Given the description of an element on the screen output the (x, y) to click on. 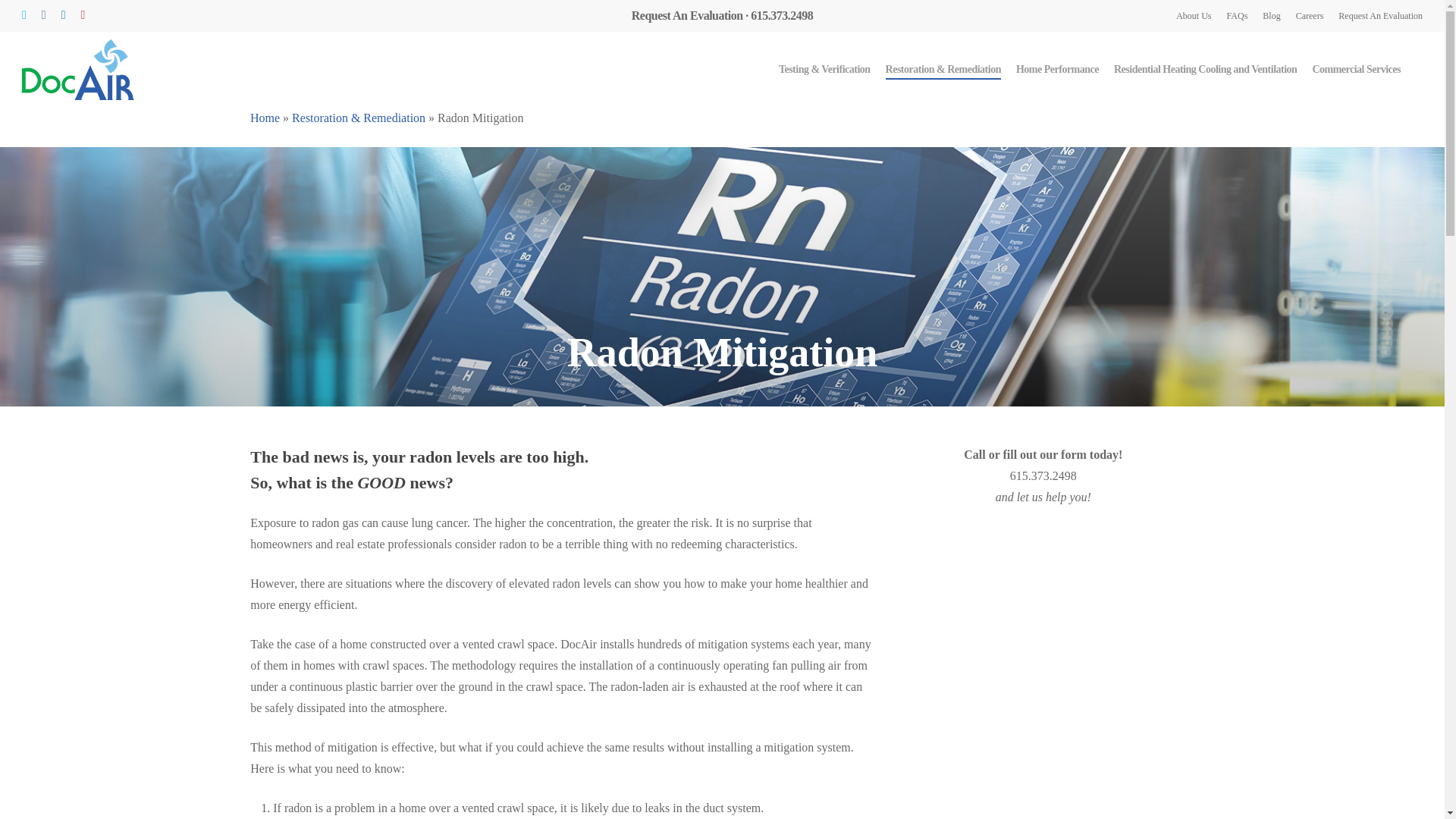
Commercial Services (1355, 69)
Residential Heating Cooling and Ventilation (1205, 69)
Blog (1270, 15)
About Us (1193, 15)
Careers (1309, 15)
Request An Evaluation (1380, 15)
FAQs (1237, 15)
Home Performance (1057, 69)
